Given the description of an element on the screen output the (x, y) to click on. 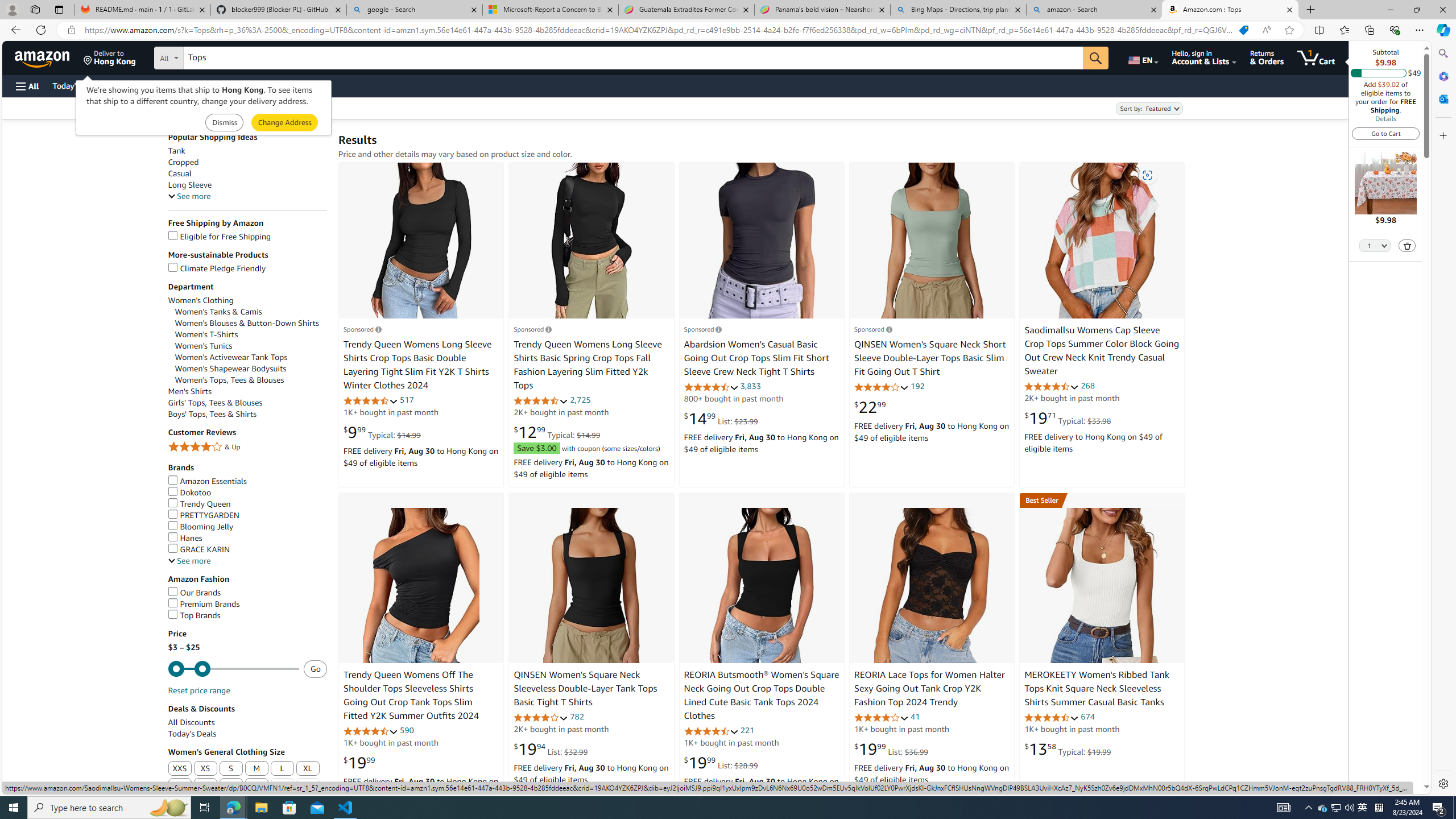
XS (204, 769)
Women's T-Shirts (206, 334)
Dokotoo (247, 492)
Search in (210, 56)
Dokotoo (189, 491)
5XL (255, 785)
View Sponsored information or leave ad feedback (872, 329)
XL (307, 768)
Women's Activewear Tank Tops (231, 357)
Minimum (233, 668)
All Discounts (247, 722)
517 (406, 399)
